Given the description of an element on the screen output the (x, y) to click on. 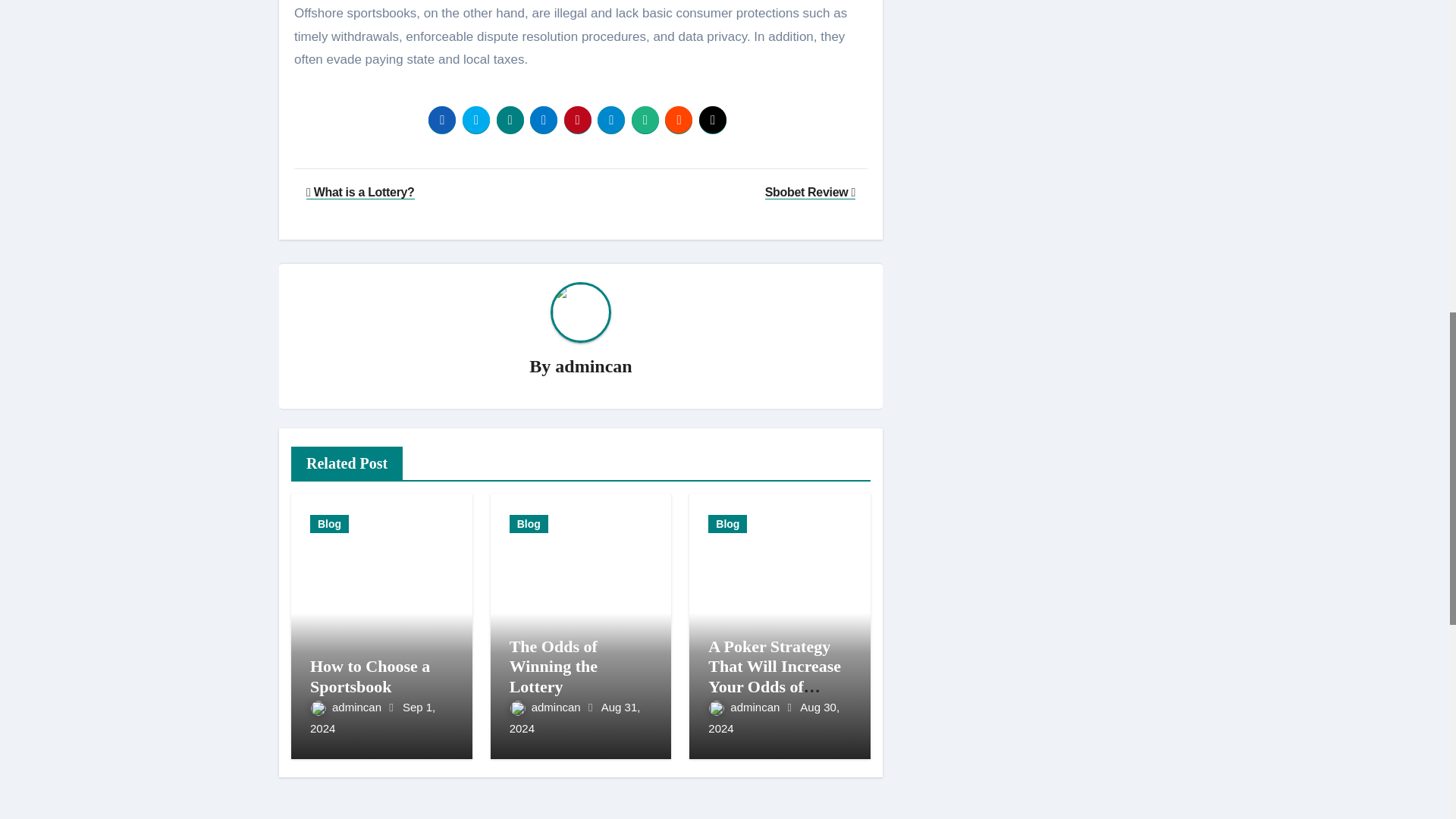
Permalink to: How to Choose a Sportsbook (369, 675)
Permalink to: The Odds of Winning the Lottery (552, 666)
